Given the description of an element on the screen output the (x, y) to click on. 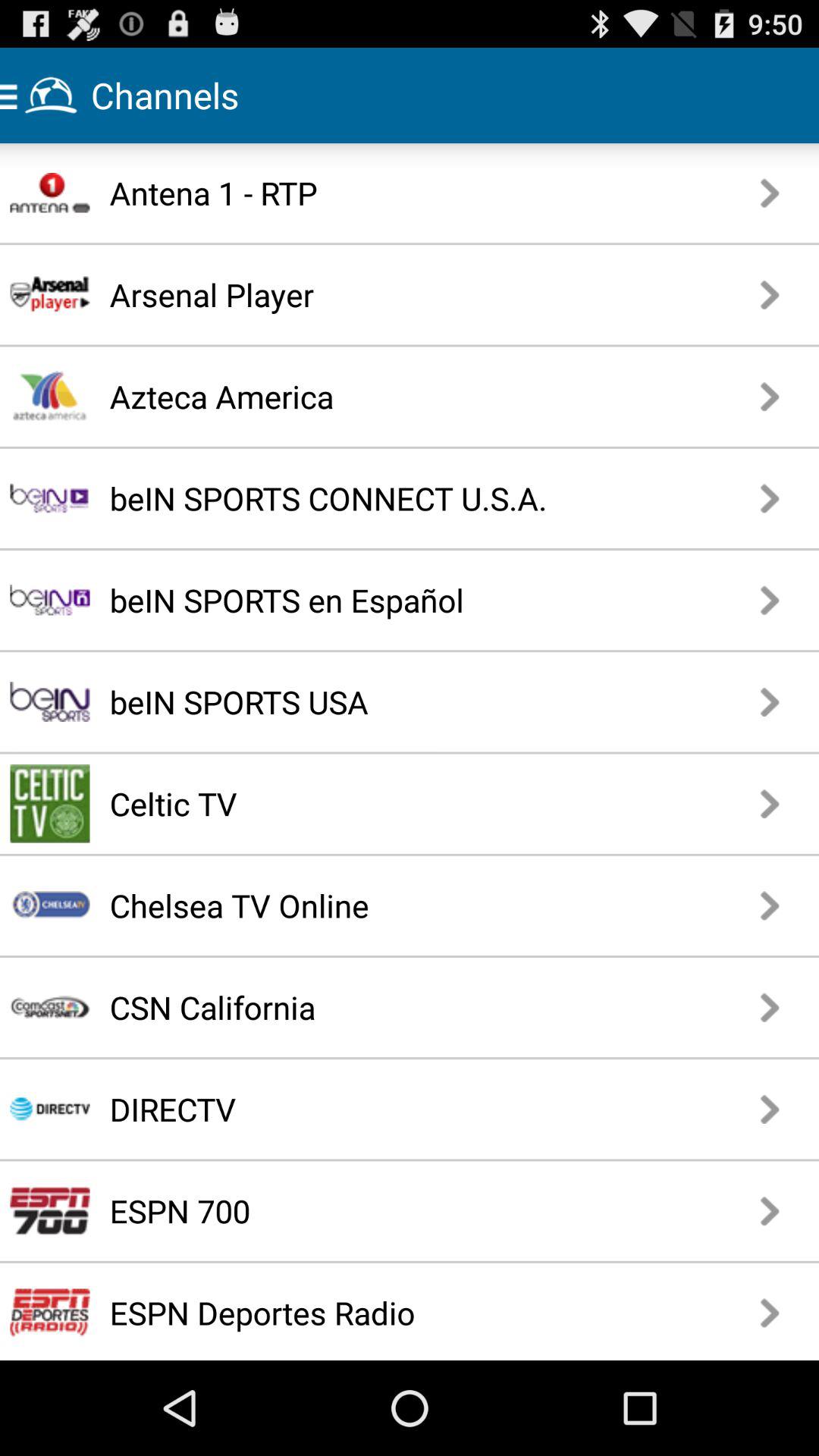
tap espn 700 icon (357, 1210)
